Given the description of an element on the screen output the (x, y) to click on. 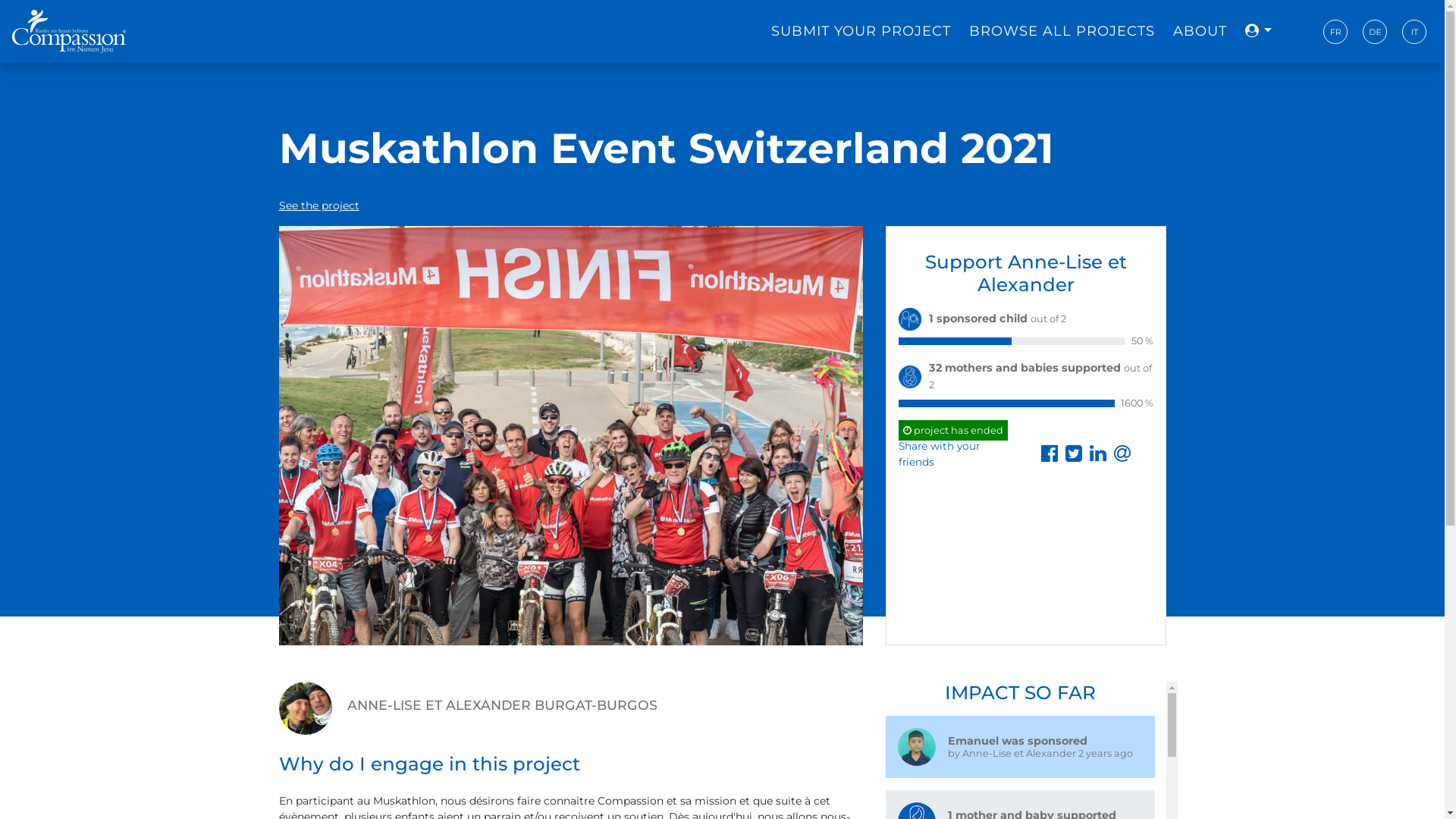
SUBMIT YOUR PROJECT Element type: text (861, 30)
See the project Element type: text (319, 205)
BROWSE ALL PROJECTS Element type: text (1062, 30)
ABOUT Element type: text (1200, 30)
